Given the description of an element on the screen output the (x, y) to click on. 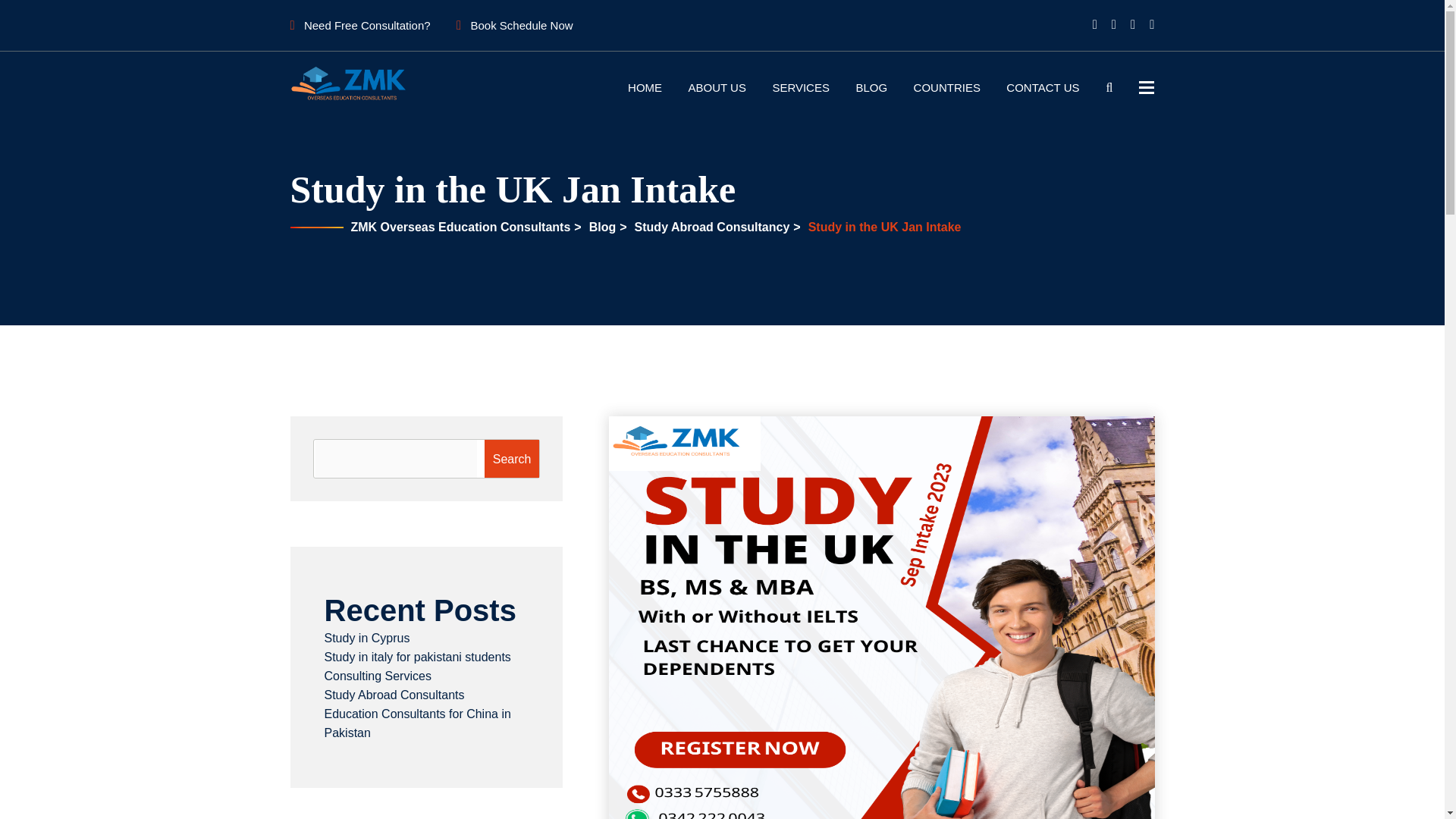
Book Schedule Now (514, 24)
ABOUT US (716, 87)
Go to the Study Abroad Consultancy Category archives. (710, 226)
Study in italy for pakistani students (417, 656)
Consulting Services (377, 675)
SERVICES (800, 87)
HOME (644, 87)
Search (512, 458)
CONTACT US (1042, 87)
Need Free Consultation? (359, 24)
